Given the description of an element on the screen output the (x, y) to click on. 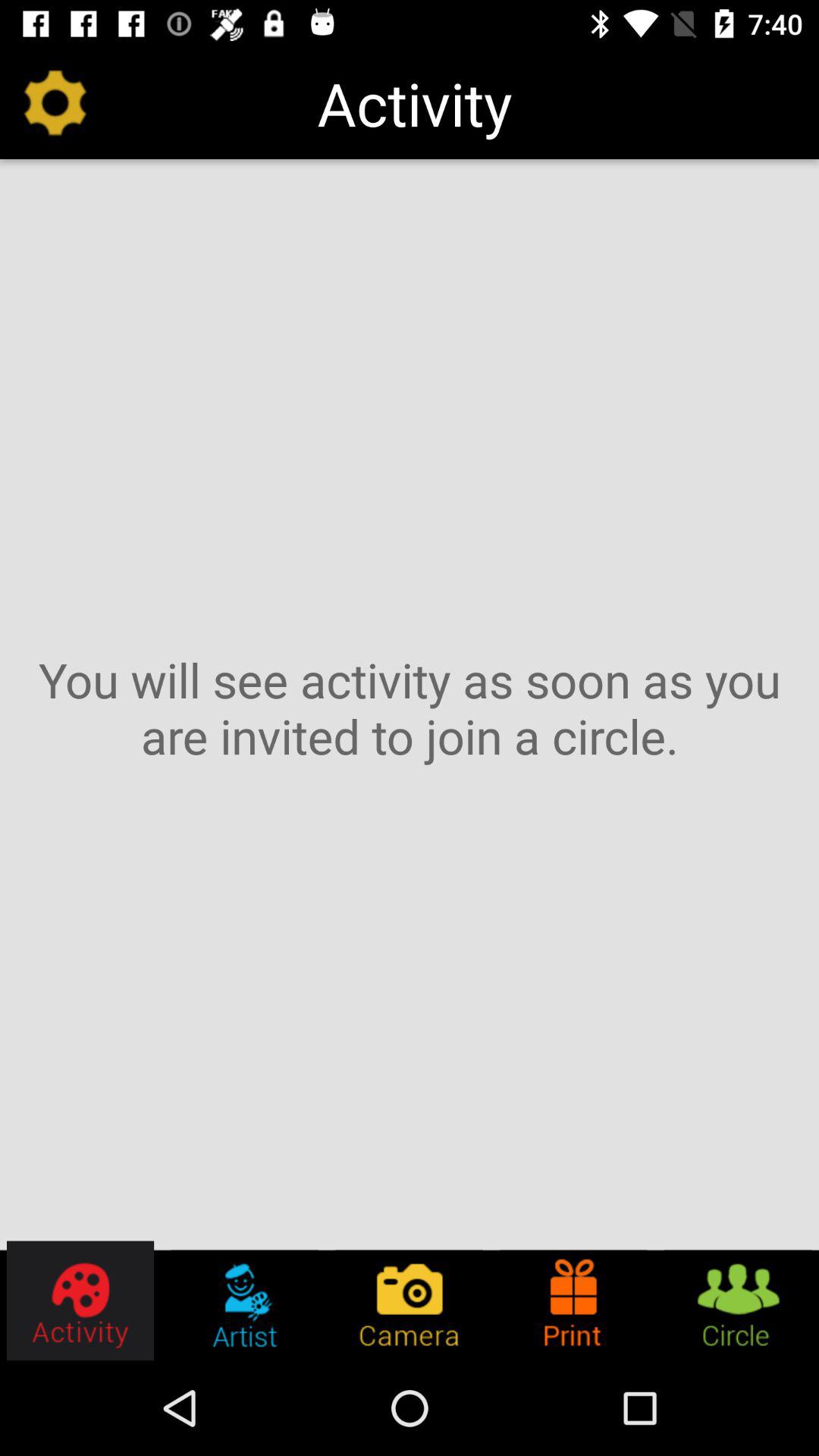
select the item below you will see (244, 1300)
